Given the description of an element on the screen output the (x, y) to click on. 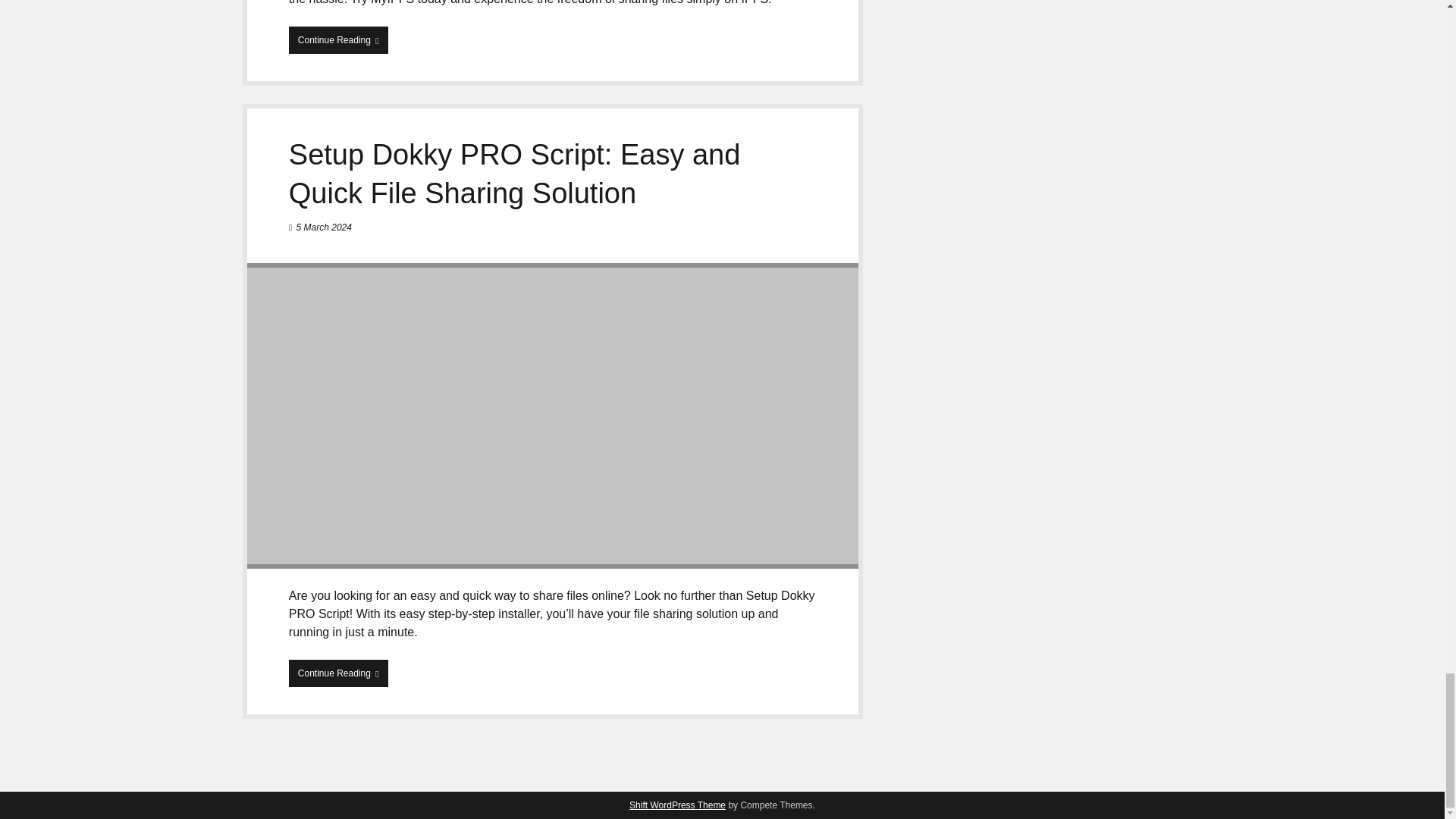
Setup Dokky PRO Script: Easy and Quick File Sharing Solution (514, 173)
5 March 2024 (324, 226)
